Given the description of an element on the screen output the (x, y) to click on. 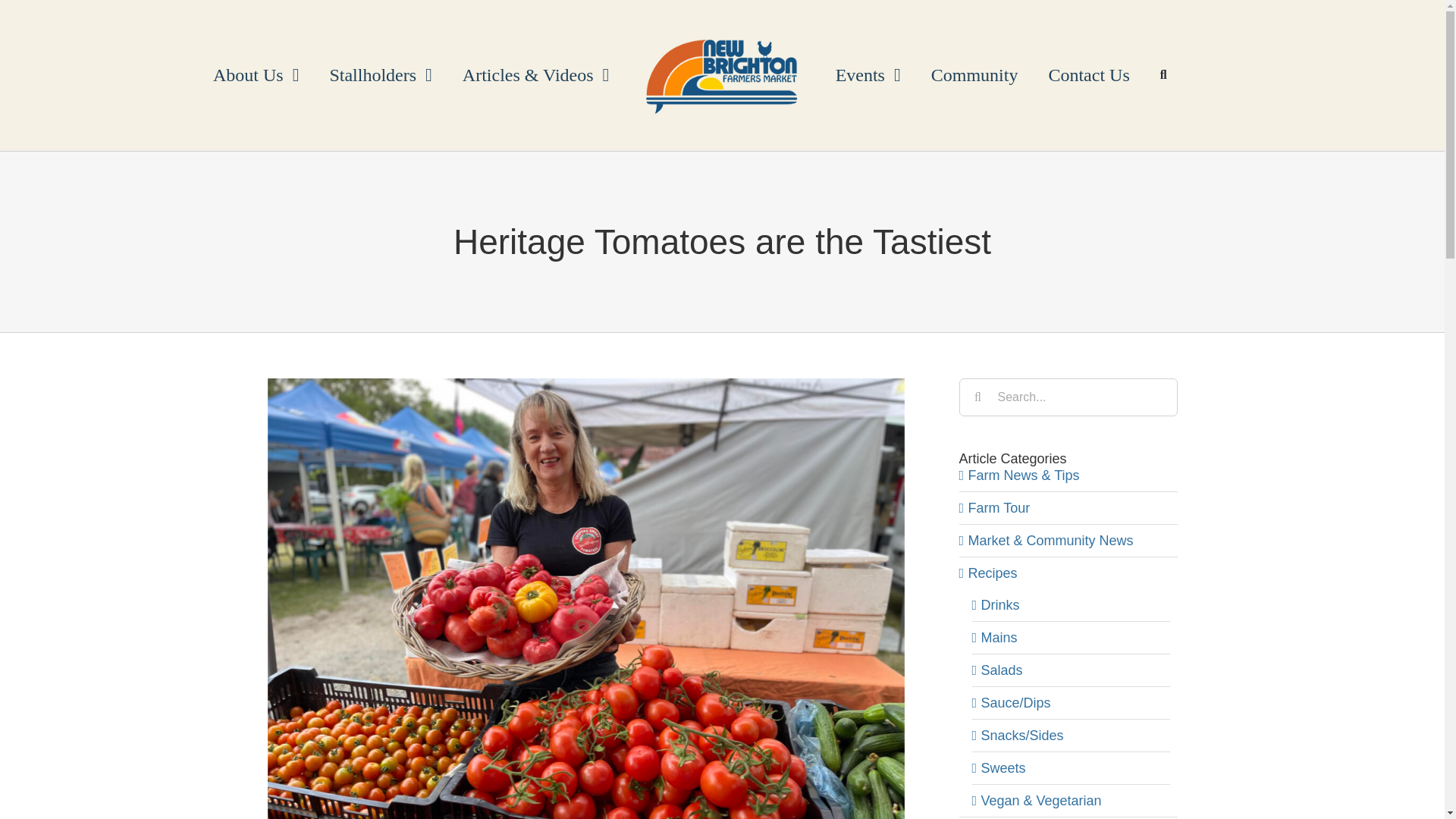
Contact Us (1088, 74)
About Us (256, 74)
Stallholders (380, 74)
Community (974, 74)
Events (868, 74)
